Given the description of an element on the screen output the (x, y) to click on. 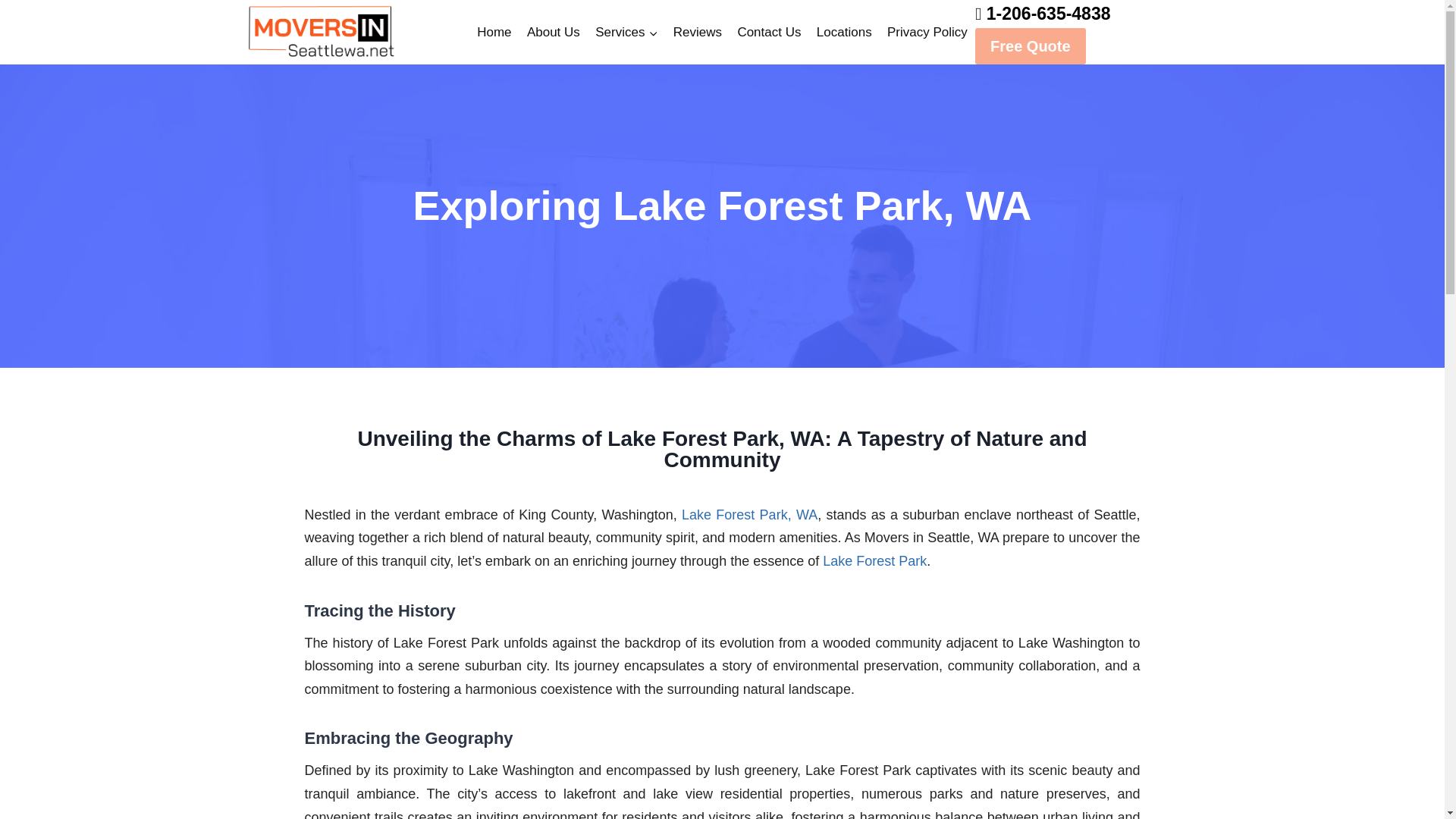
Reviews (697, 32)
Locations (844, 32)
Lake Forest Park, WA (748, 514)
Free Quote (1030, 45)
Services (626, 32)
Lake Forest Park (872, 560)
Privacy Policy (927, 32)
Contact Us (768, 32)
About Us (553, 32)
1-206-635-4838 (1048, 13)
Home (493, 32)
